Given the description of an element on the screen output the (x, y) to click on. 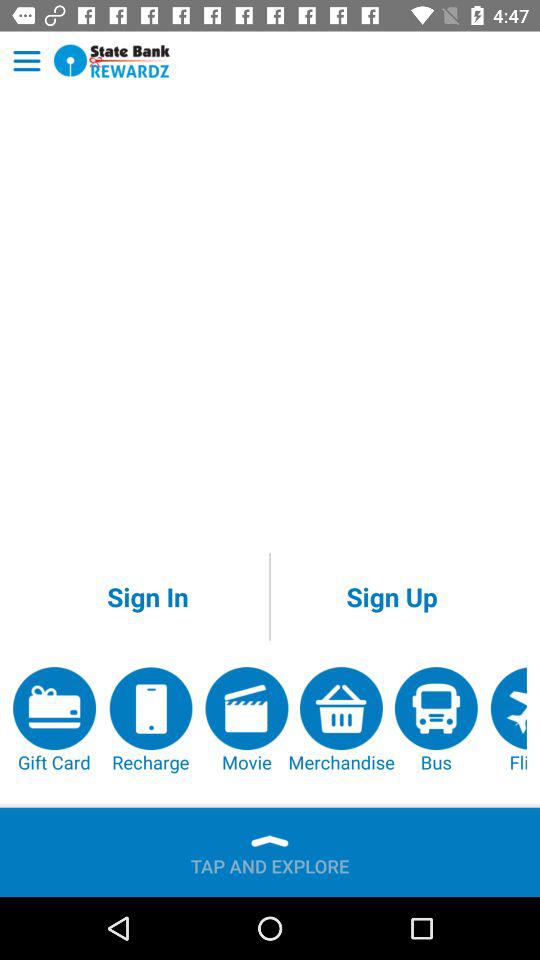
turn on app below the sign up icon (435, 720)
